Given the description of an element on the screen output the (x, y) to click on. 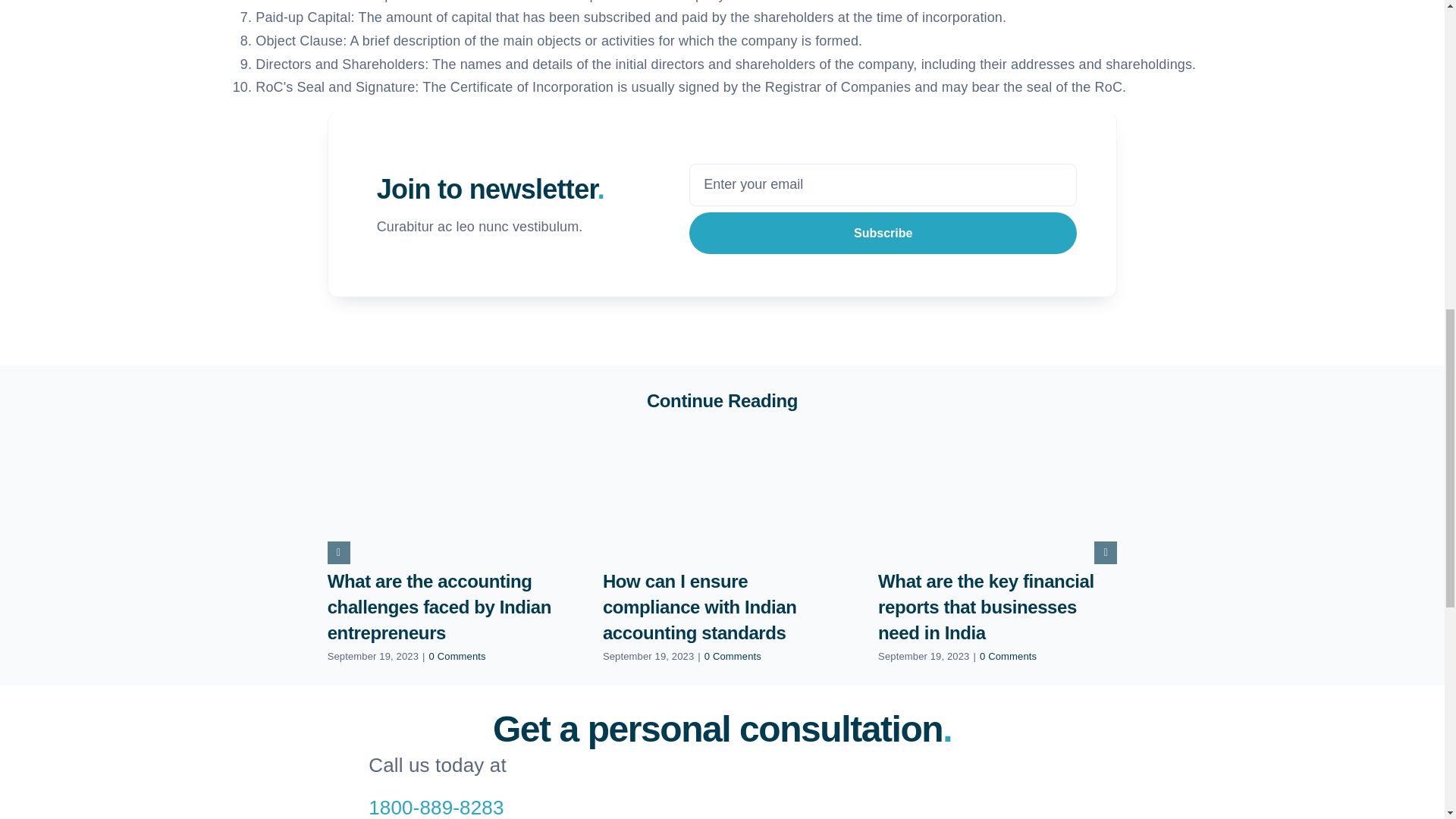
Subscribe (883, 209)
How can I ensure compliance with Indian accounting standards (699, 606)
